Given the description of an element on the screen output the (x, y) to click on. 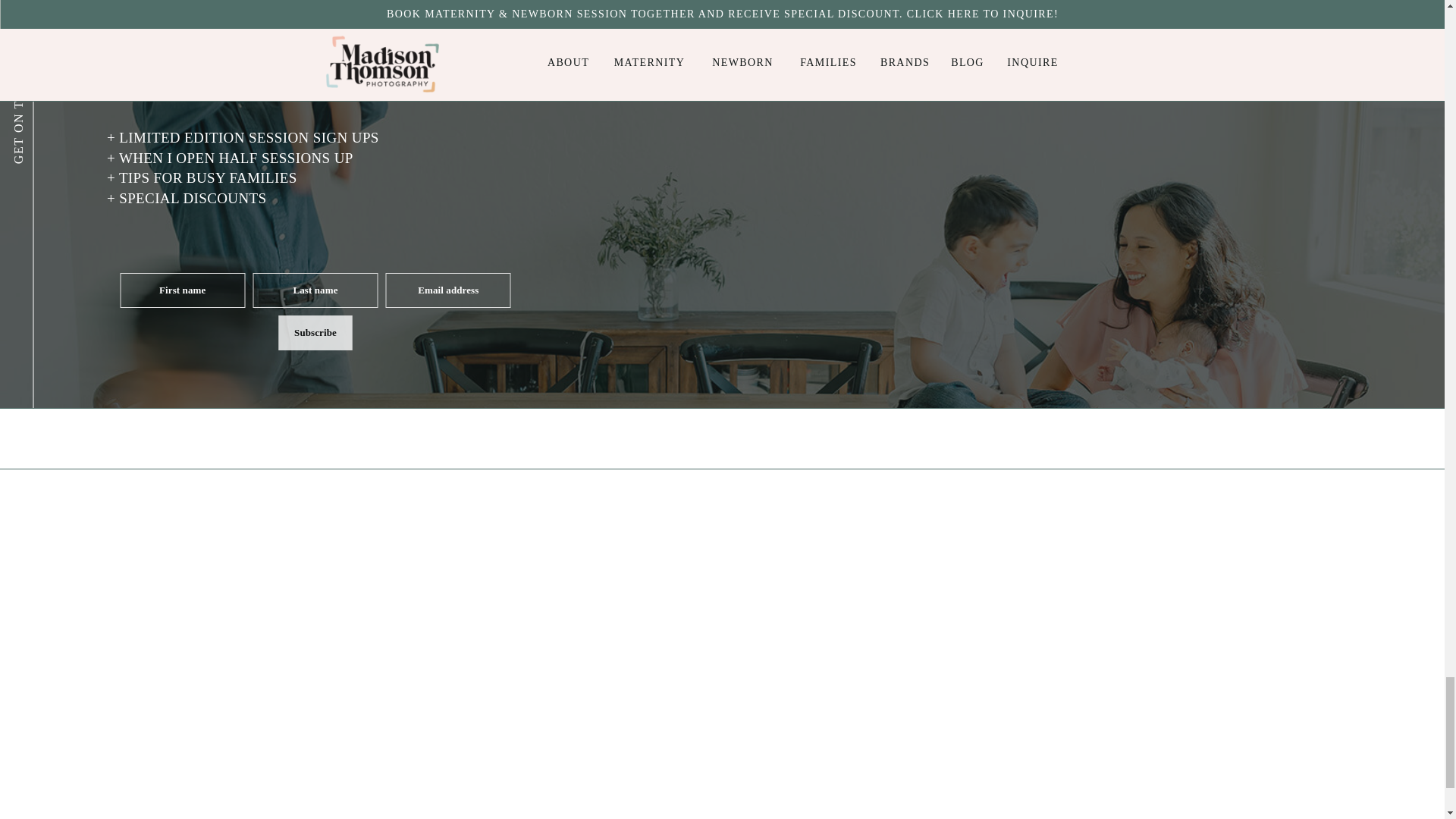
High-Tide-by-Northfolk---00002 (635, 762)
